Given the description of an element on the screen output the (x, y) to click on. 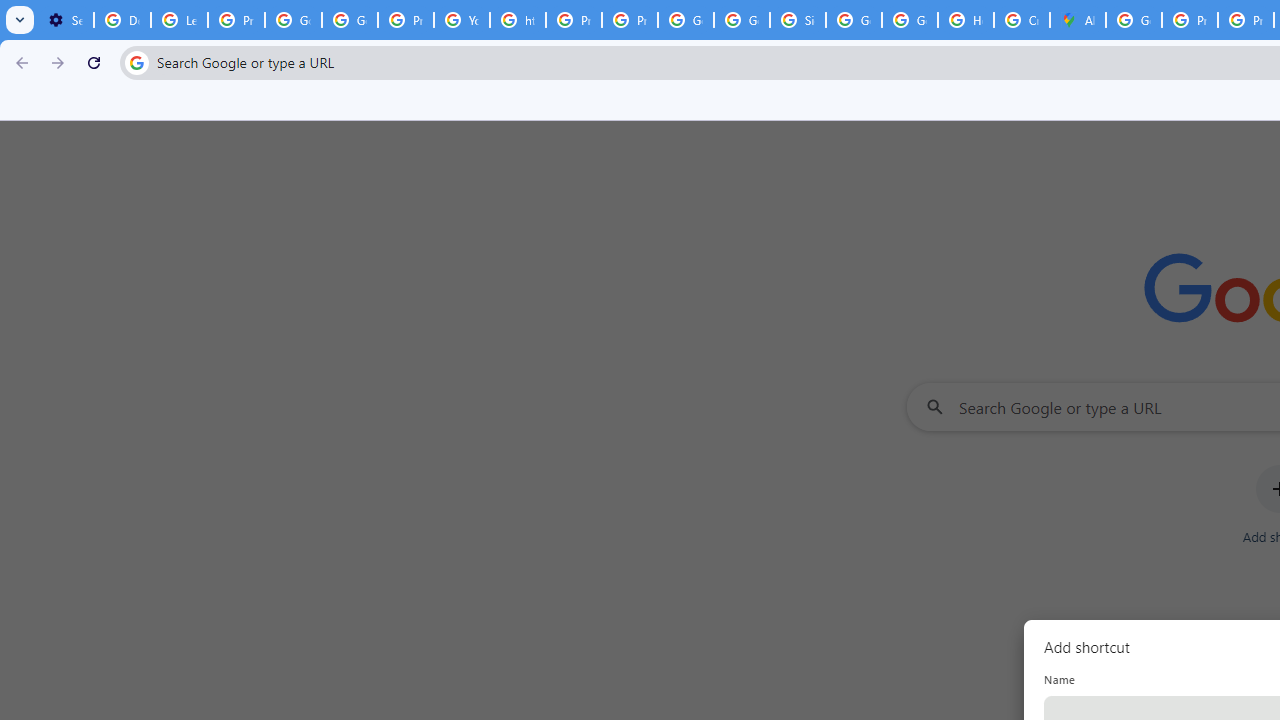
Google Account Help (293, 20)
YouTube (461, 20)
Settings - Performance (65, 20)
Privacy Help Center - Policies Help (1190, 20)
Privacy Help Center - Policies Help (573, 20)
